Given the description of an element on the screen output the (x, y) to click on. 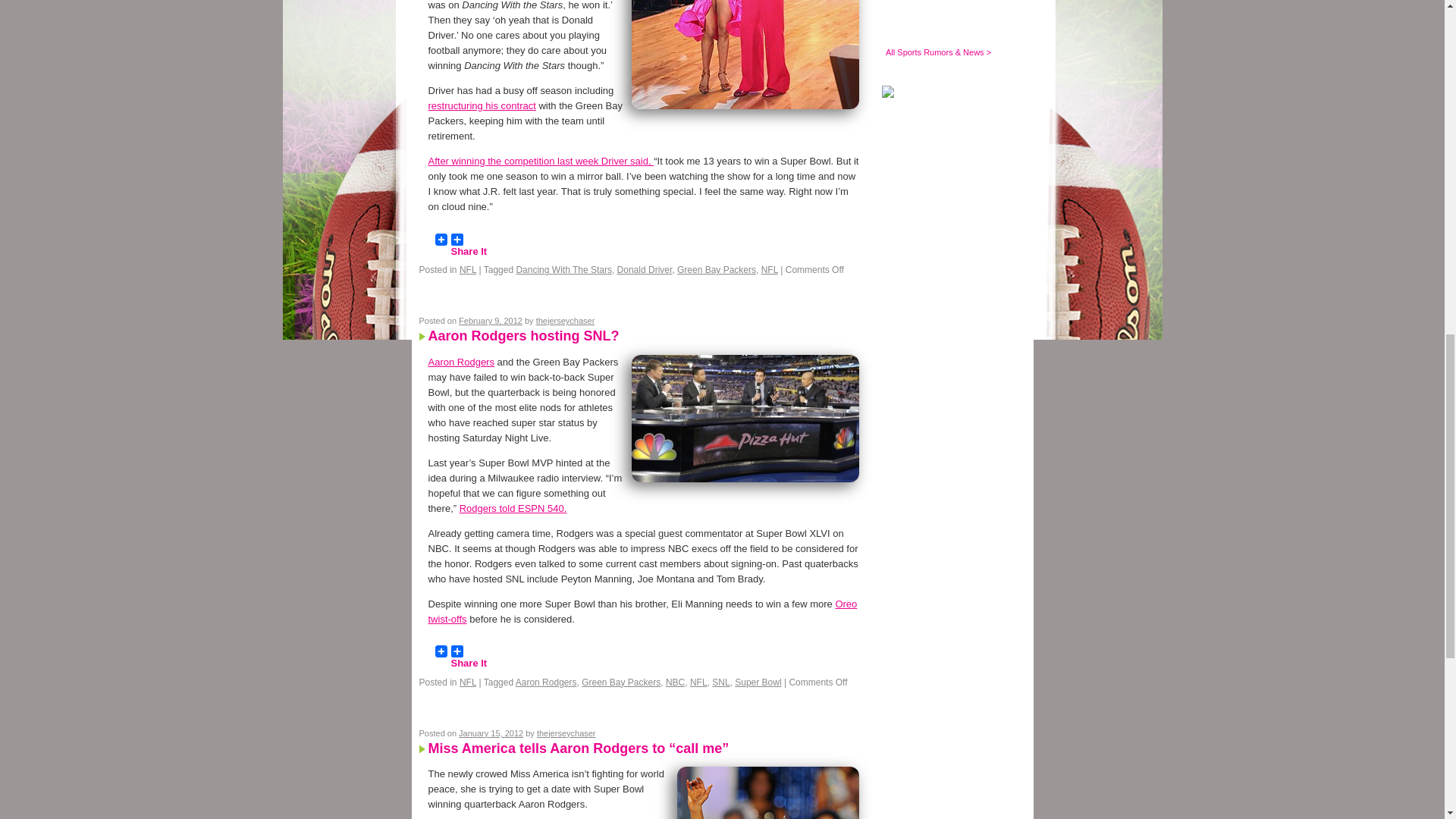
Donald Driver (644, 269)
restructuring his contract (481, 105)
View all posts in NFL (468, 269)
Share It (457, 239)
Aaron Rodgers (460, 361)
Aaron Rodgers hosting SNL? (523, 335)
View all posts by thejerseychaser (565, 320)
After winning the competition last week Driver said, (540, 161)
4:27 pm (490, 320)
thejerseychaser (565, 320)
